Given the description of an element on the screen output the (x, y) to click on. 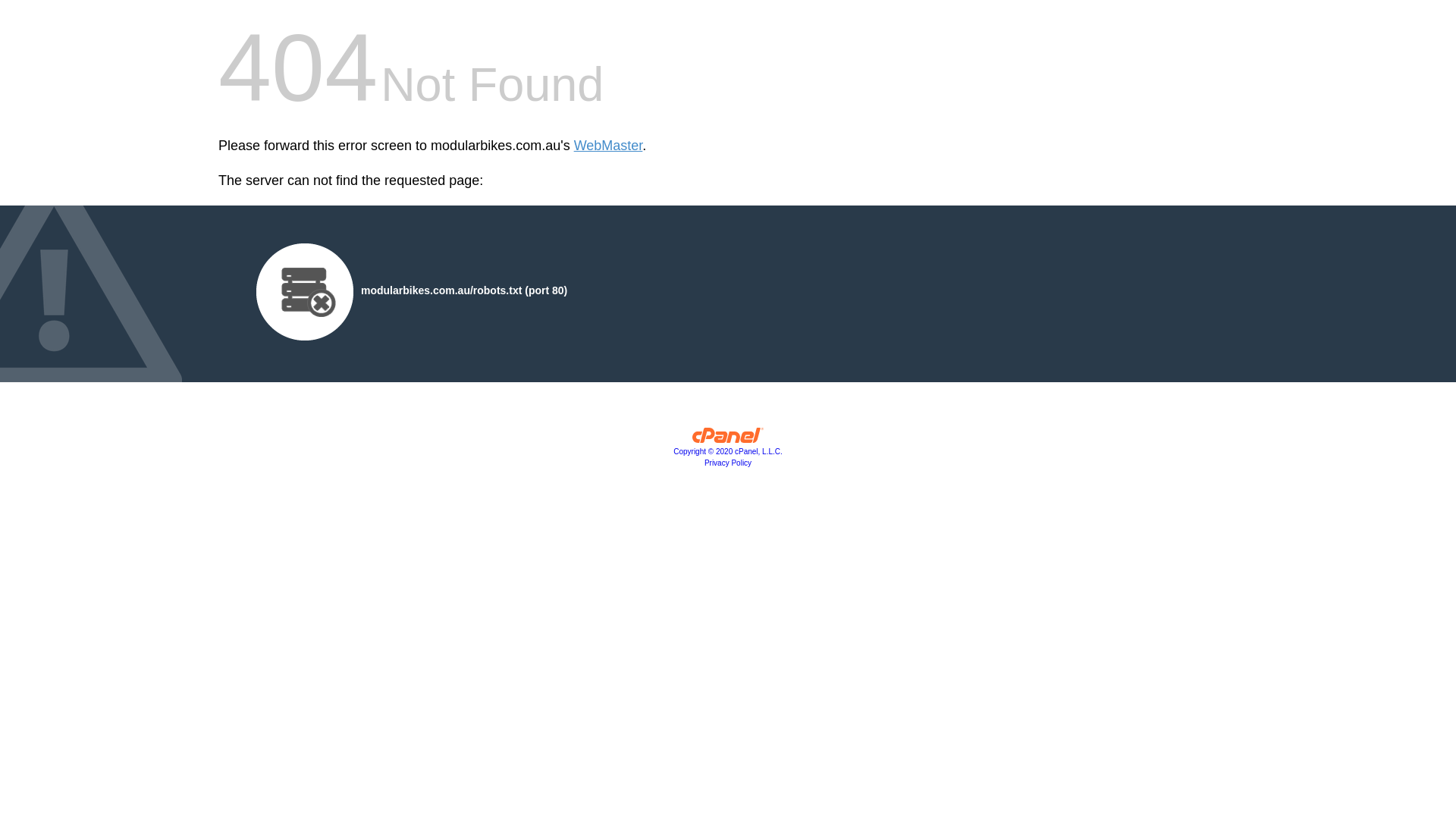
cPanel, Inc. Element type: hover (728, 439)
WebMaster Element type: text (608, 145)
Privacy Policy Element type: text (727, 462)
